Given the description of an element on the screen output the (x, y) to click on. 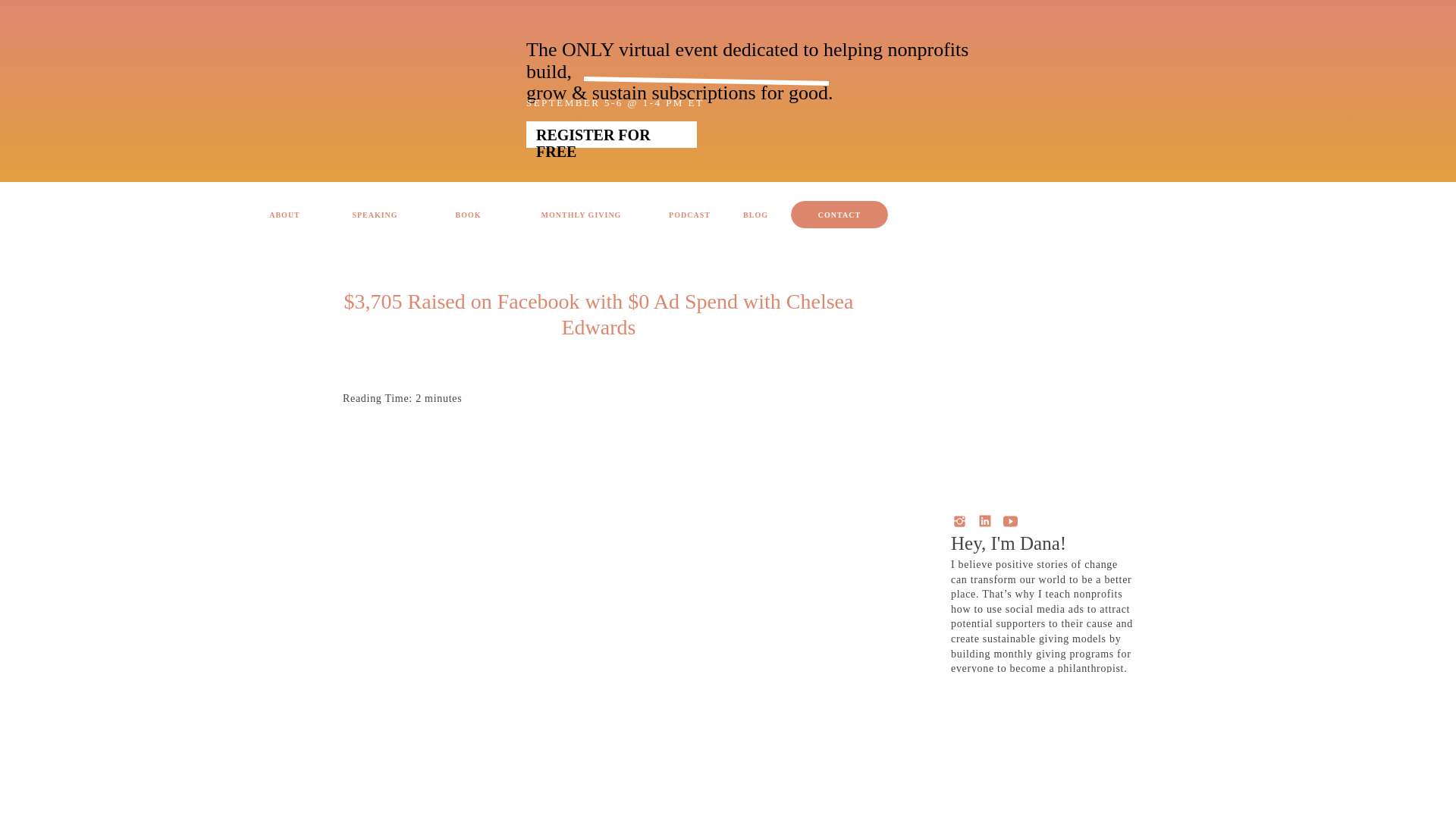
BLOG (755, 214)
REGISTER FOR FREE (611, 134)
CONTACT (839, 214)
BOOK (468, 214)
SPEAKING (374, 214)
ABOUT (284, 214)
PODCAST (689, 214)
MONTHLY GIVING (580, 214)
